Given the description of an element on the screen output the (x, y) to click on. 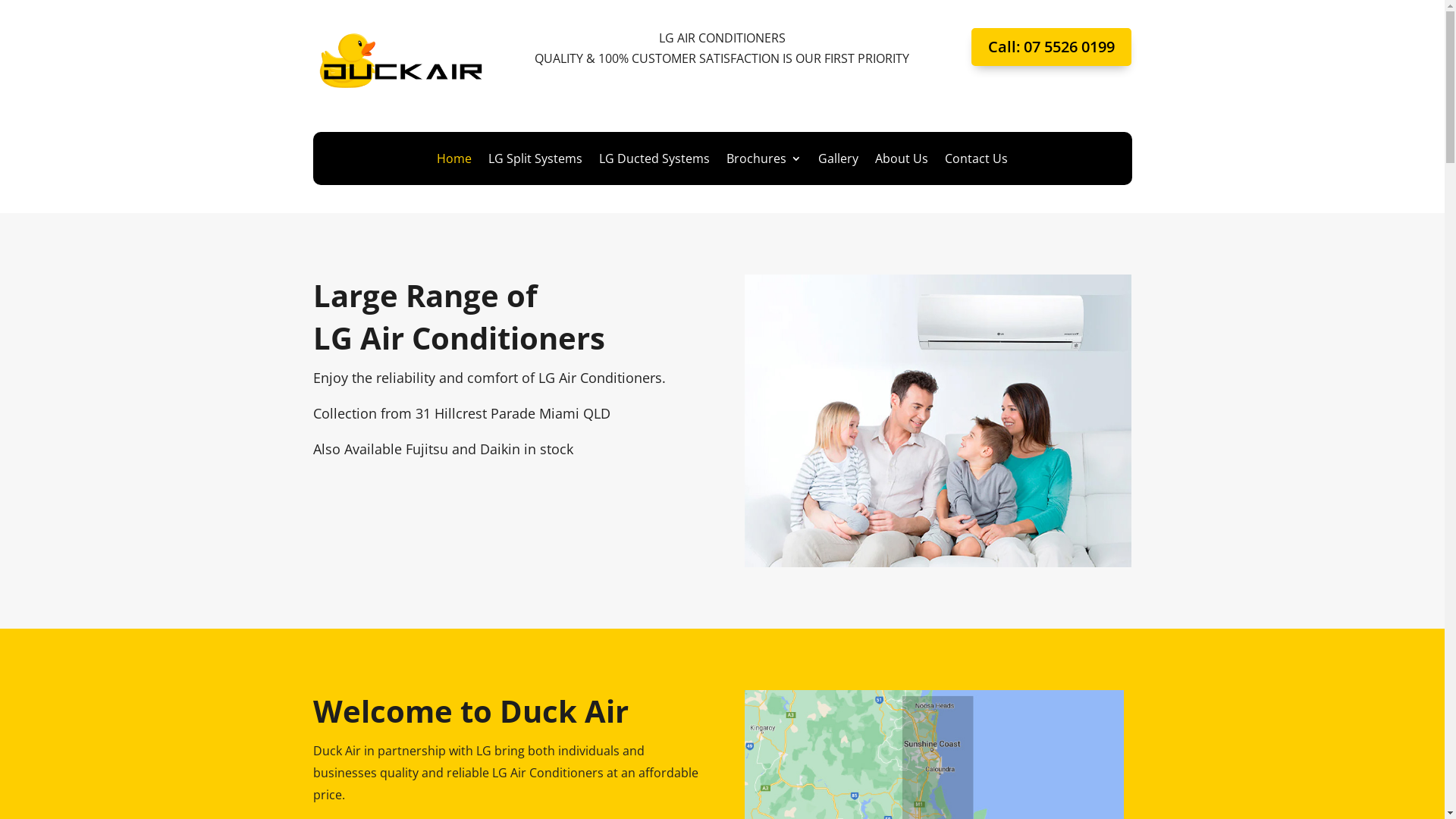
LG Ducted Systems Element type: text (654, 161)
LG Air Conditioners Element type: hover (937, 420)
LG Split Systems Element type: text (535, 161)
Home Element type: text (453, 161)
Contact Us Element type: text (975, 161)
Brochures Element type: text (763, 161)
Duck Air Element type: hover (397, 59)
Call: 07 5526 0199 Element type: text (1051, 46)
About Us Element type: text (901, 161)
Gallery Element type: text (838, 161)
